Given the description of an element on the screen output the (x, y) to click on. 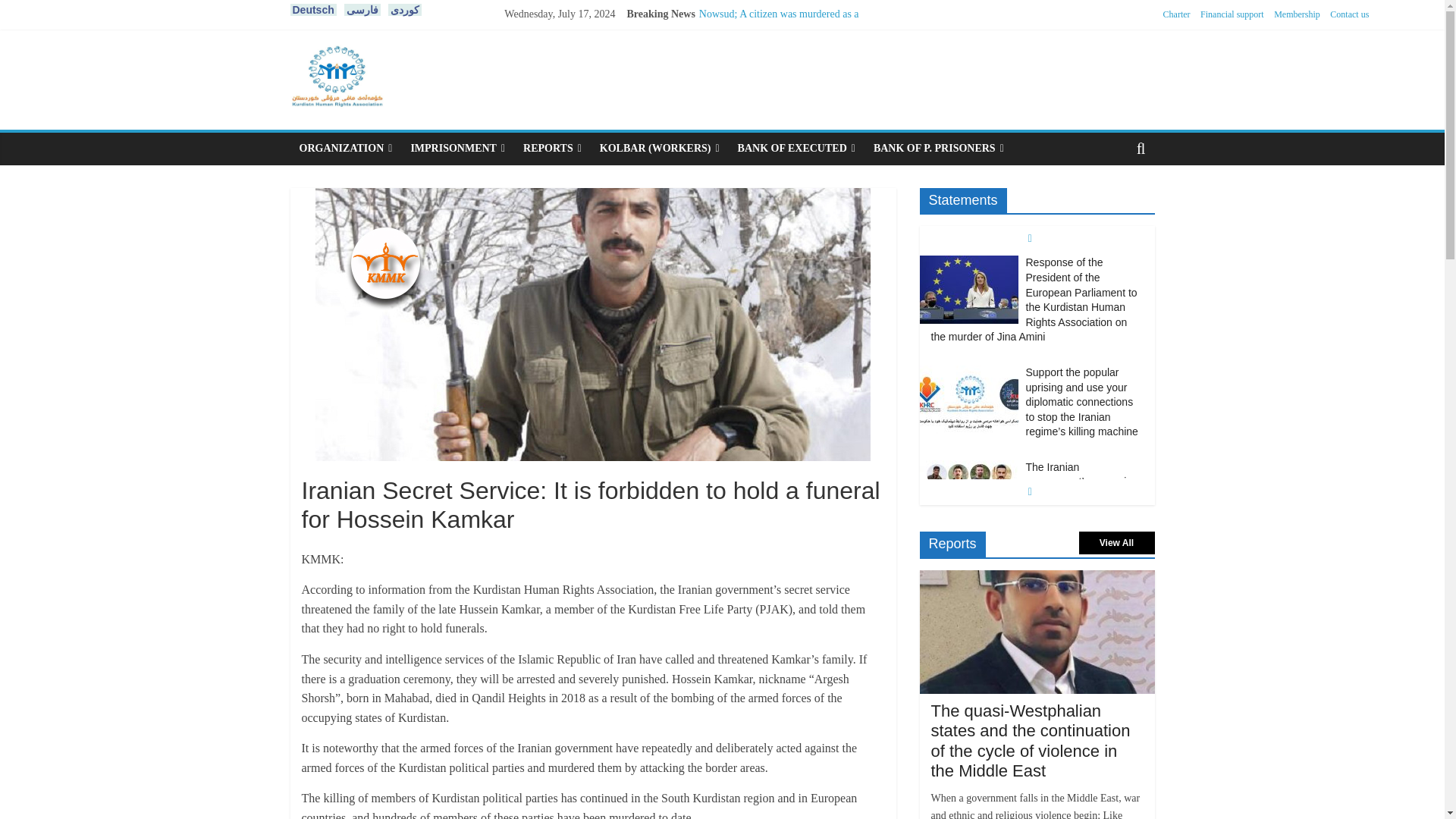
IMPRISONMENT (457, 148)
Contact us (1349, 14)
Membership (1297, 14)
BANK OF P. PRISONERS (938, 148)
Deutsch (312, 9)
BANK OF EXECUTED (796, 148)
Injury of a Kolbar by Direct Gunfire from Border Guards (775, 107)
Injury of a Kolbar by Direct Gunfire from Border Guards (775, 107)
REPORTS (552, 148)
Young Citizen murdered During Mandatory Military Service (766, 72)
Financial support (1231, 14)
Young Citizen murdered During Mandatory Military Service (766, 72)
